Given the description of an element on the screen output the (x, y) to click on. 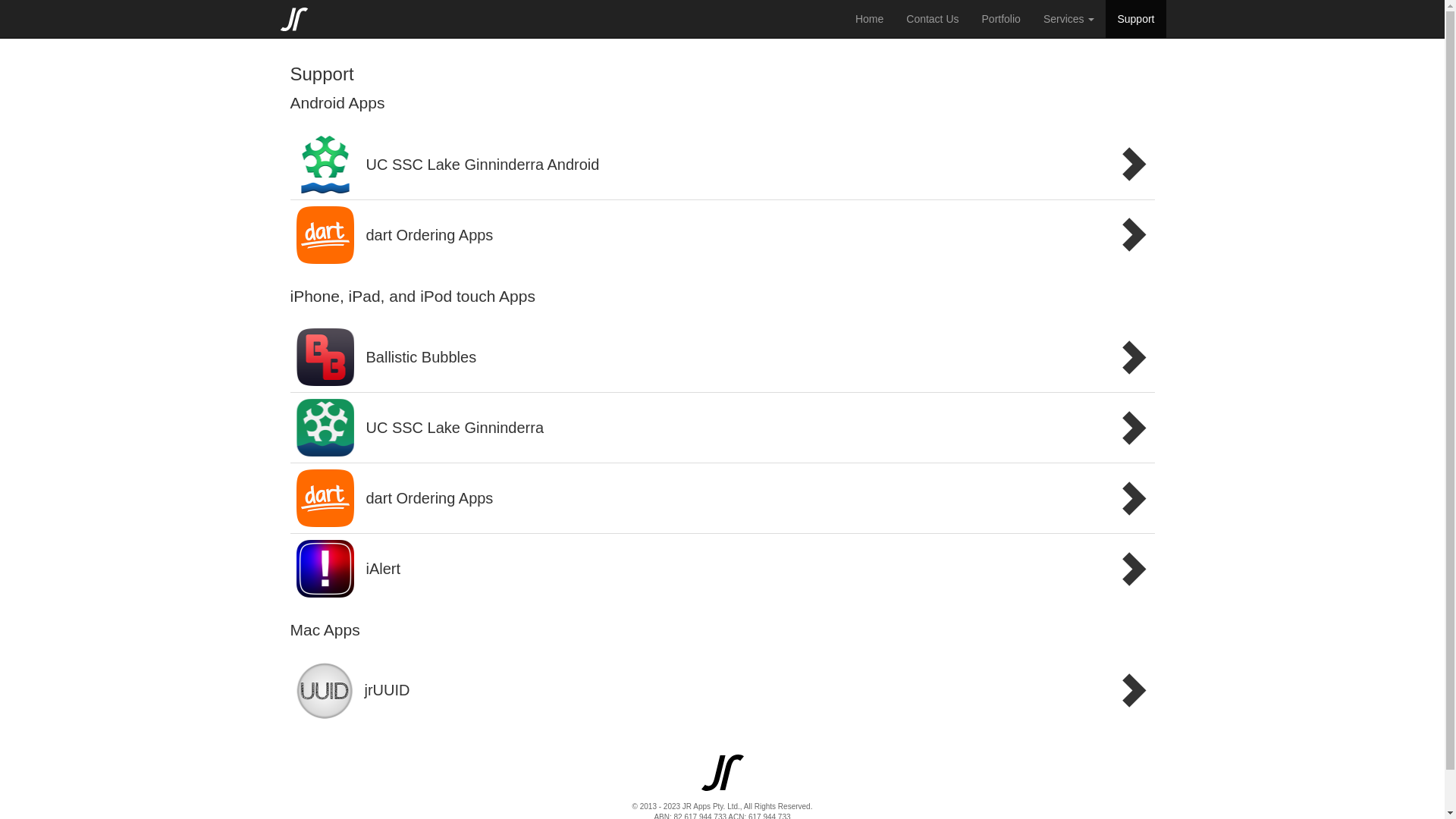
dart Ordering Apps Element type: text (721, 234)
Home Element type: text (869, 18)
UC SSC Lake Ginninderra Android Element type: text (721, 164)
jrUUID Element type: text (721, 690)
Portfolio Element type: text (1001, 18)
Contact Us Element type: text (931, 18)
UC SSC Lake Ginninderra Element type: text (721, 427)
Ballistic Bubbles Element type: text (721, 357)
Support Element type: text (1135, 18)
iAlert Element type: text (721, 568)
dart Ordering Apps Element type: text (721, 498)
Services Element type: text (1069, 18)
